Given the description of an element on the screen output the (x, y) to click on. 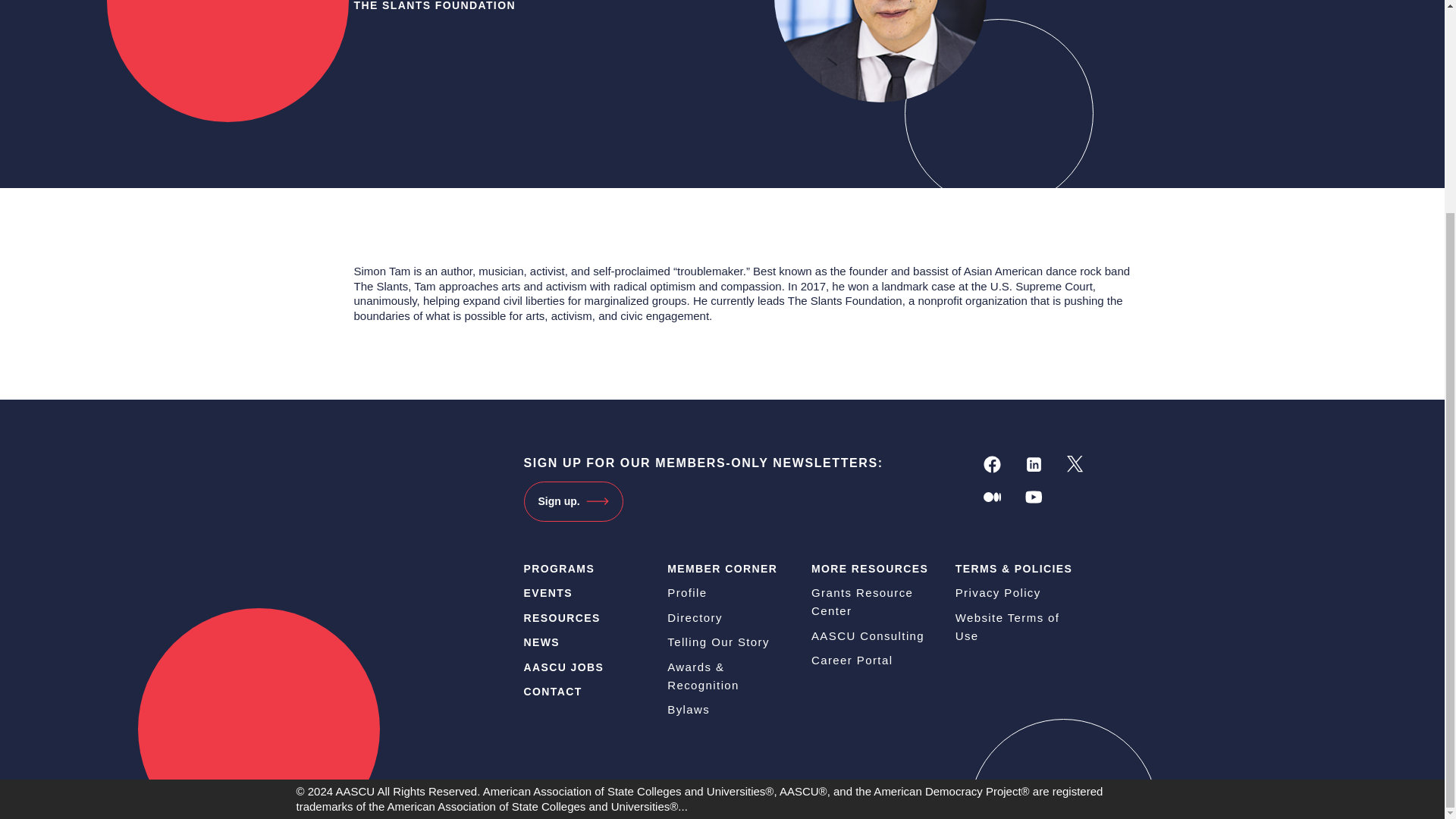
Follow us on Medium (991, 496)
Follow us on LinkedIn (1034, 464)
Follow us on Twitter (1074, 464)
Follow us on YouTube (1034, 496)
Follow us on Facebook (991, 464)
